Given the description of an element on the screen output the (x, y) to click on. 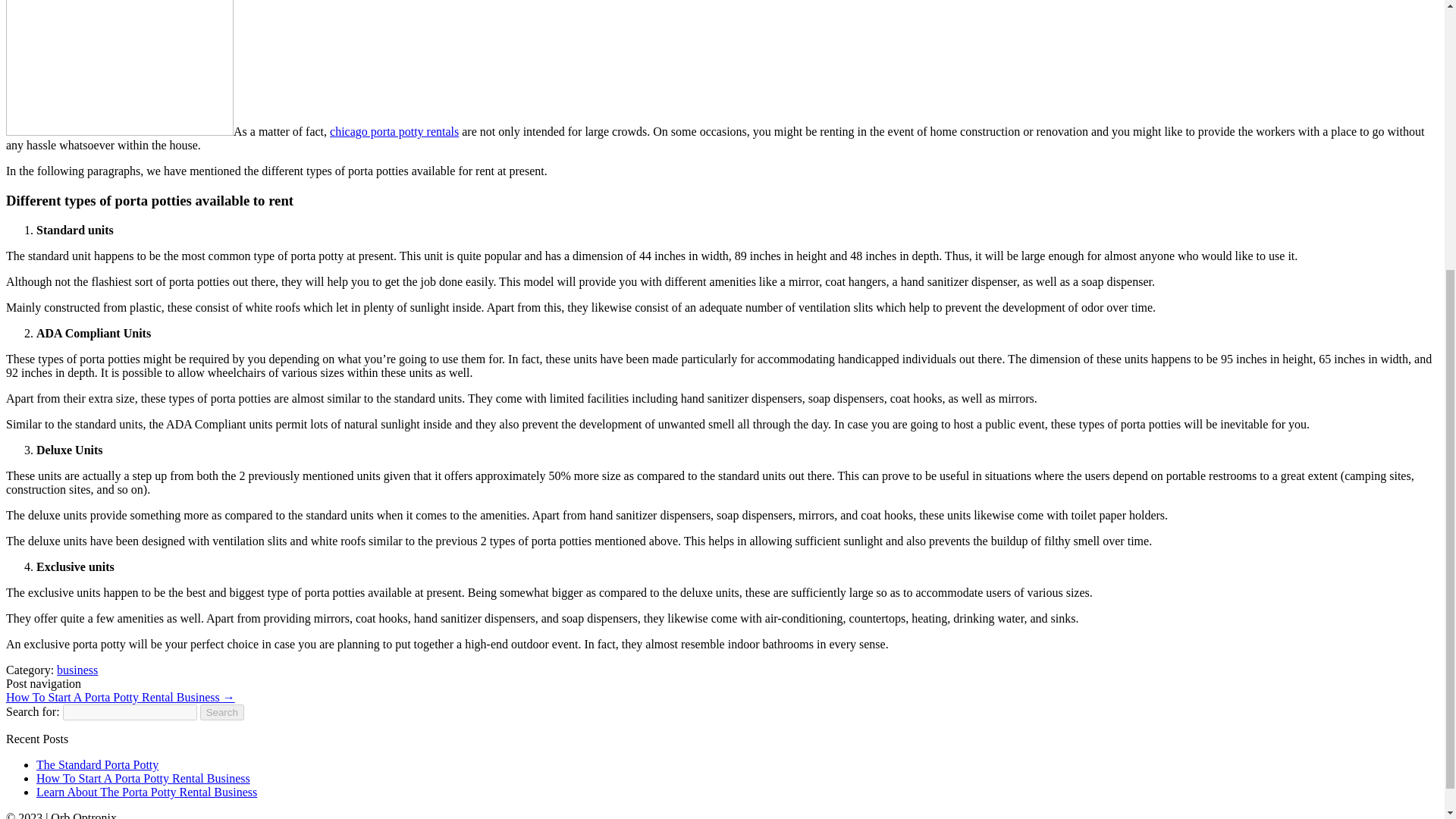
chicago porta potty rentals (394, 131)
The Standard Porta Potty (97, 764)
Learn About The Porta Potty Rental Business (146, 791)
Search (222, 712)
How To Start A Porta Potty Rental Business (143, 778)
business (76, 669)
Search (222, 712)
